Given the description of an element on the screen output the (x, y) to click on. 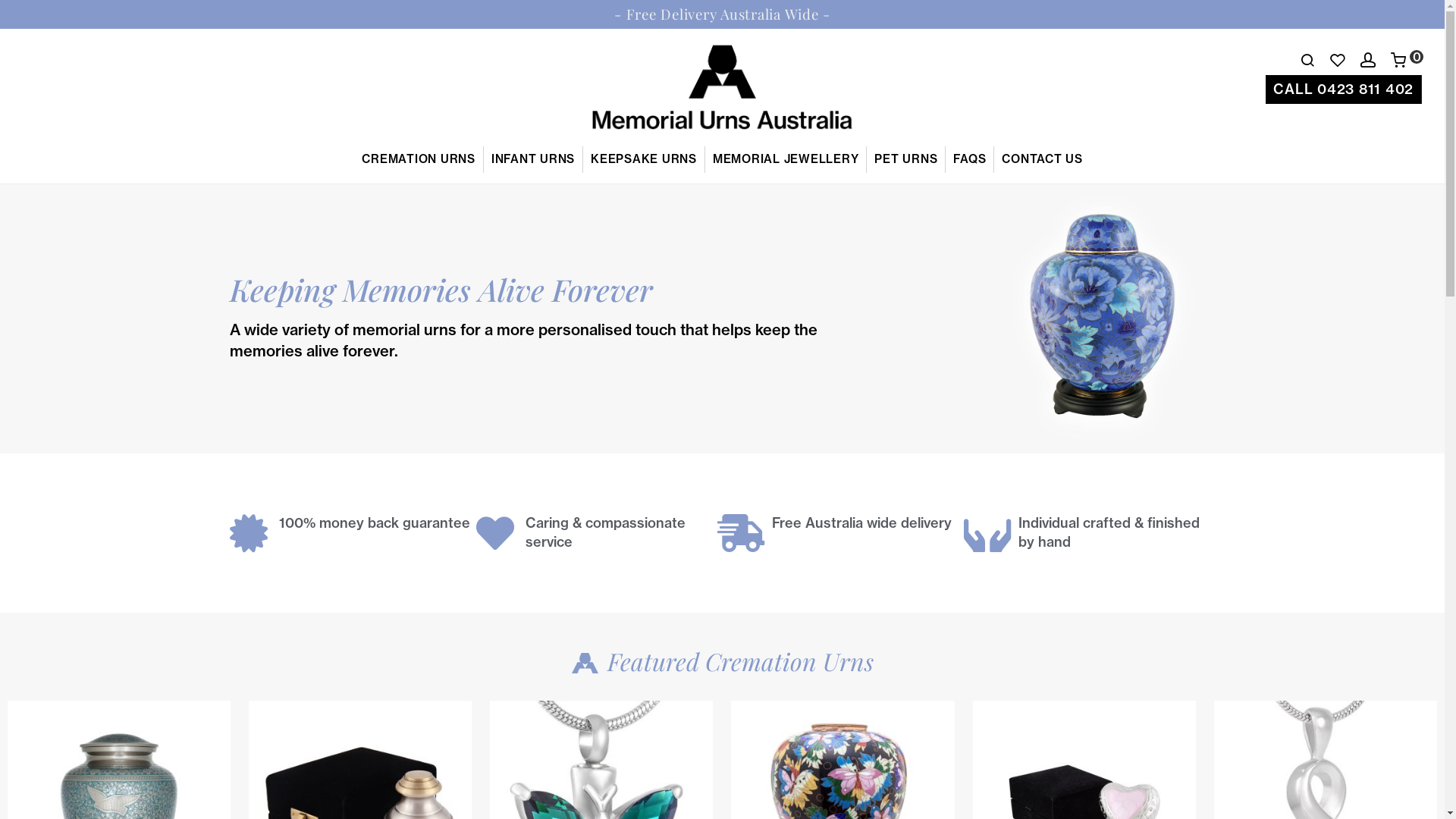
KEEPSAKE URNS Element type: text (644, 159)
MEMORIAL JEWELLERY Element type: text (786, 159)
CONTACT US Element type: text (1042, 159)
0 Element type: text (1406, 60)
CALL 0423 811 402 Element type: text (1343, 89)
CREMATION URNS Element type: text (418, 159)
PET URNS Element type: text (905, 159)
FAQS Element type: text (969, 159)
INFANT URNS Element type: text (533, 159)
